Given the description of an element on the screen output the (x, y) to click on. 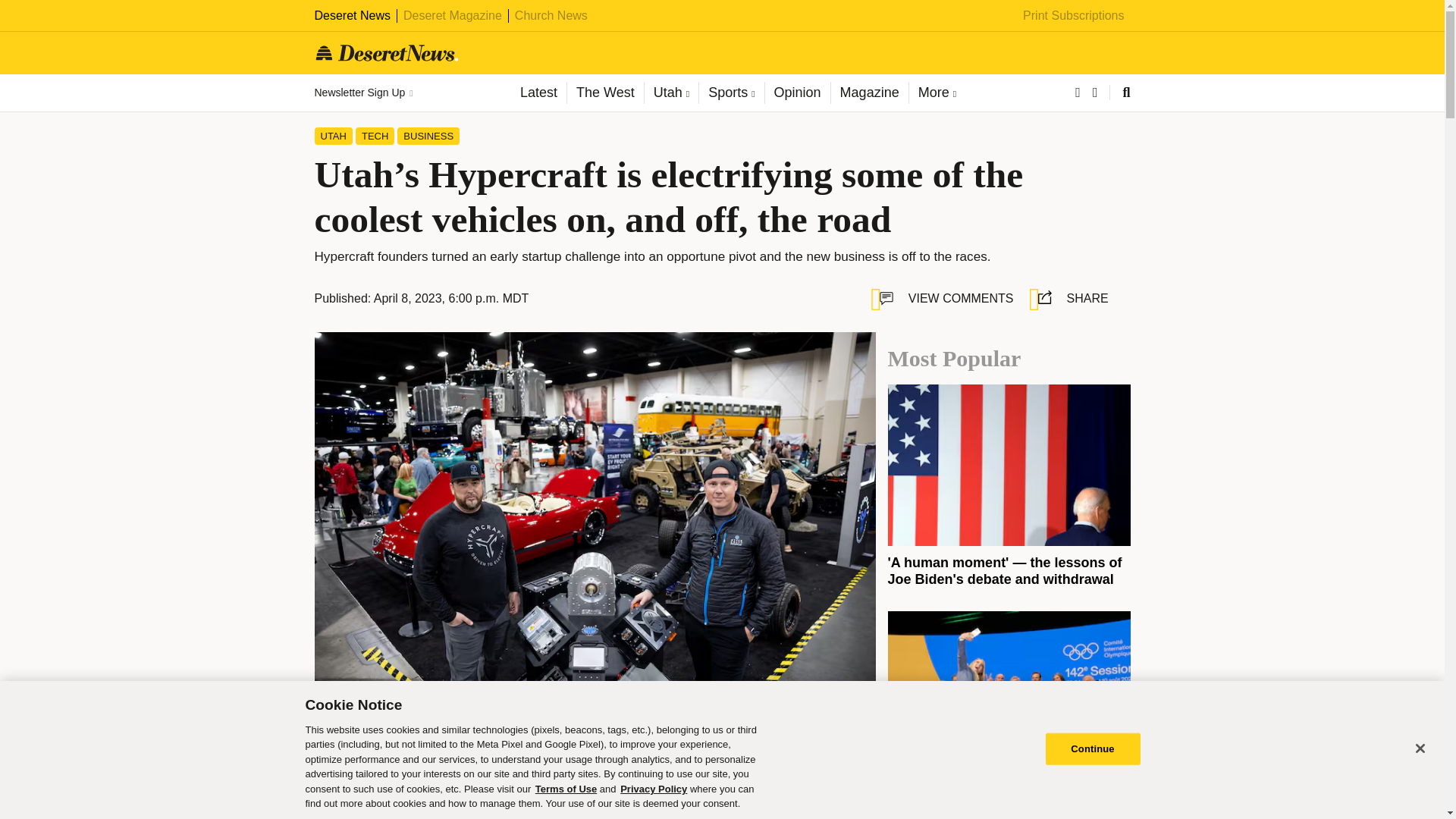
BUSINESS (428, 135)
Magazine (868, 92)
Print Subscriptions (1073, 15)
The West (604, 92)
Utah (670, 92)
Church News (551, 15)
PURCHASE IMAGE (533, 753)
Sports (730, 92)
Deseret Magazine (452, 15)
UTAH (333, 135)
Art Raymond (433, 803)
Newsletter Sign Up (363, 92)
Opinion (796, 92)
Deseret News (352, 15)
Latest (538, 92)
